Given the description of an element on the screen output the (x, y) to click on. 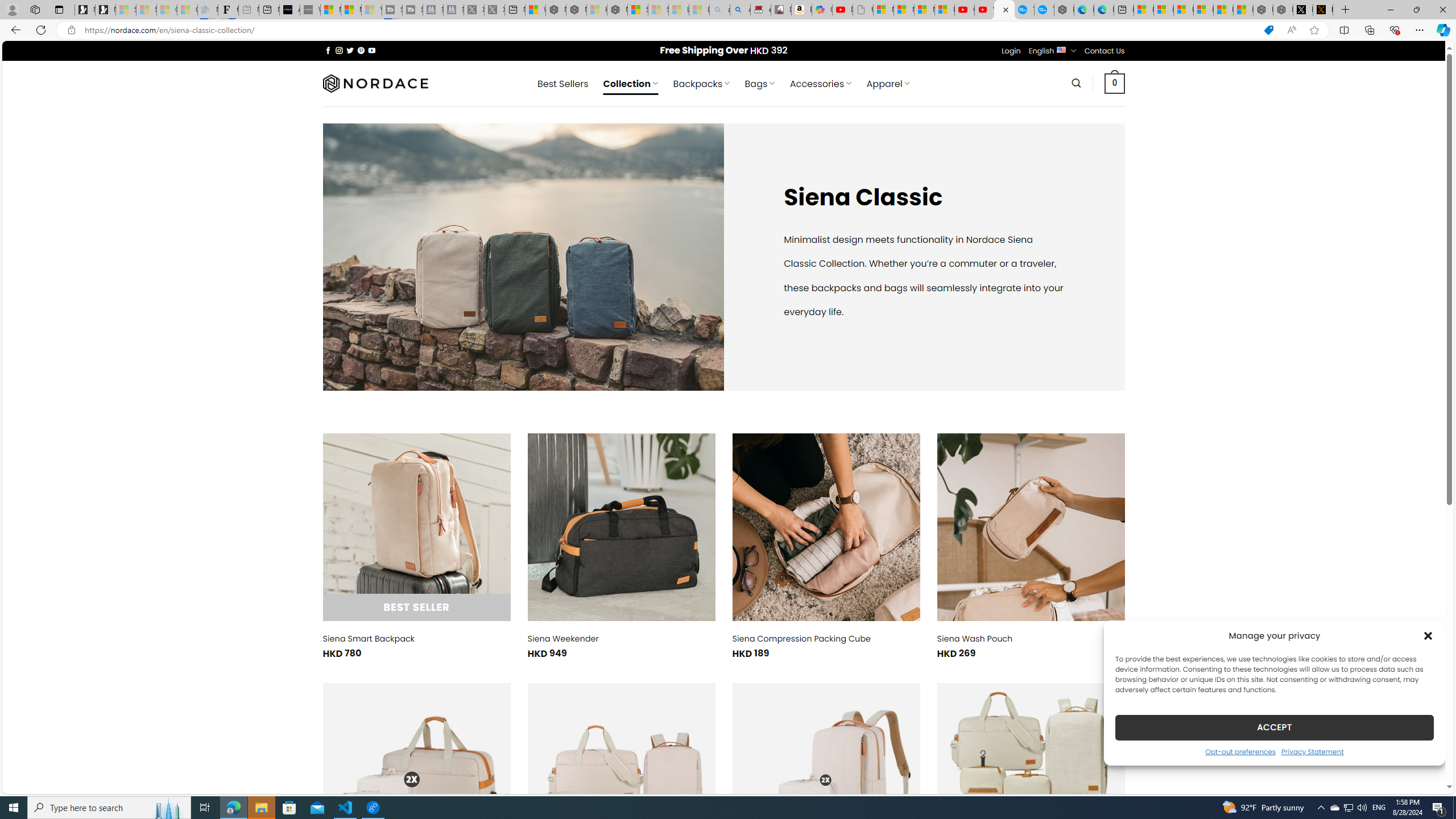
Login (1010, 50)
X - Sleeping (494, 9)
Nordace - Nordace Siena Is Not An Ordinary Backpack (616, 9)
English (1061, 49)
Copilot (821, 9)
Follow on Pinterest (360, 49)
